Given the description of an element on the screen output the (x, y) to click on. 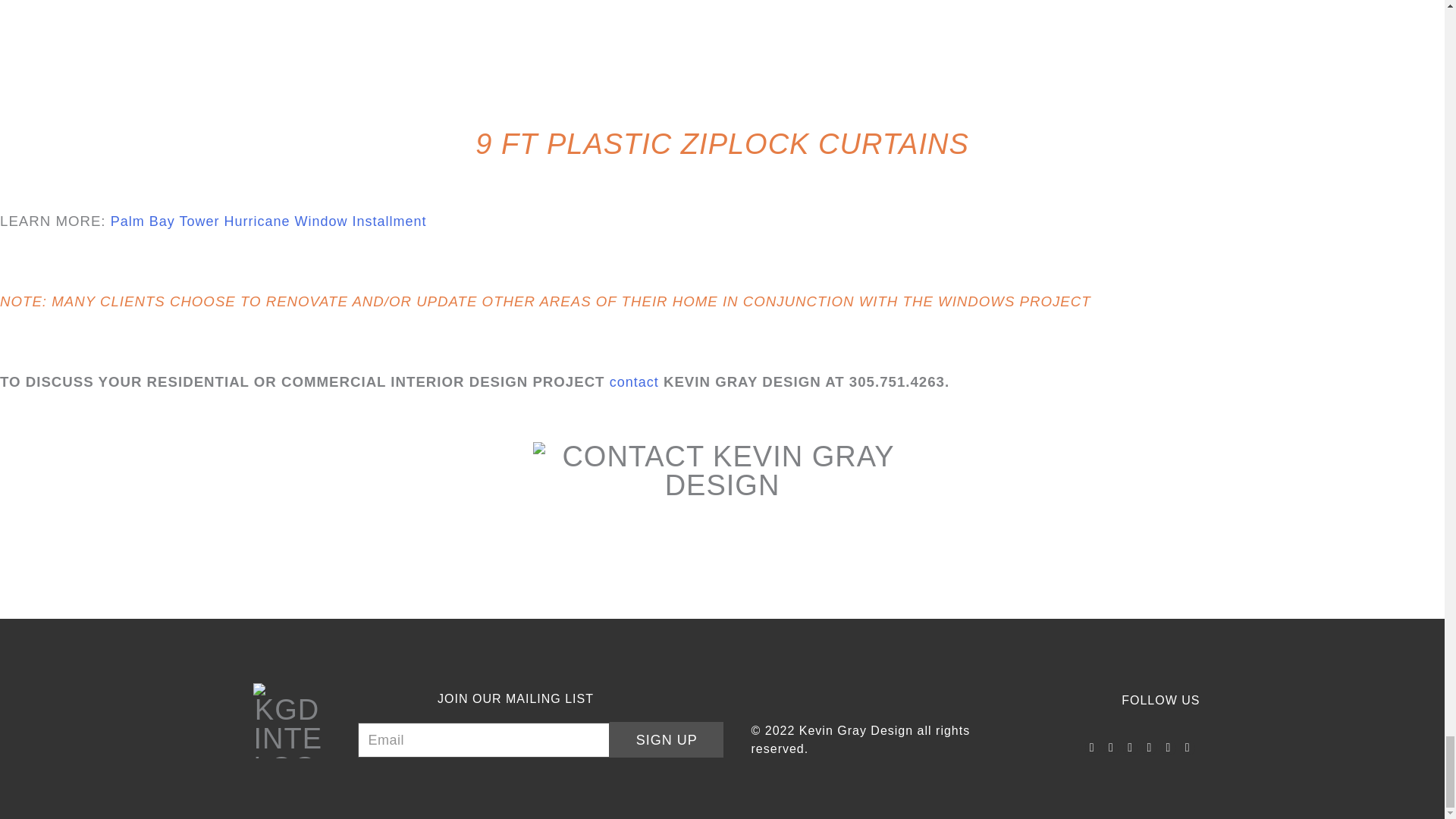
Twitter (1091, 748)
SIGN UP (666, 739)
contact (634, 381)
Instagram (1110, 748)
Palm Bay Tower Hurricane Window Installment (268, 221)
